Given the description of an element on the screen output the (x, y) to click on. 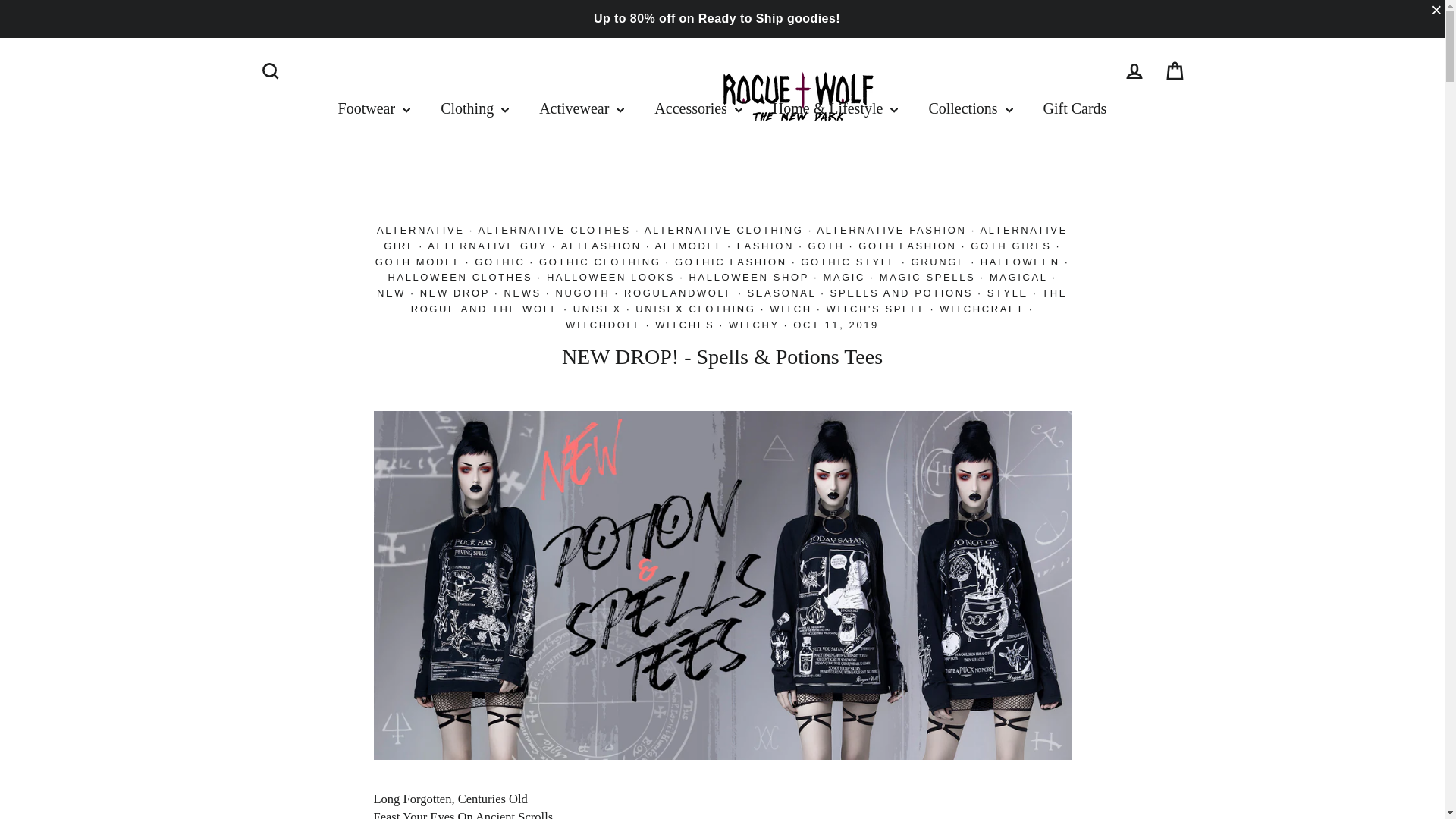
account (1134, 70)
icon-search (270, 70)
Ready to Ship (740, 18)
